Given the description of an element on the screen output the (x, y) to click on. 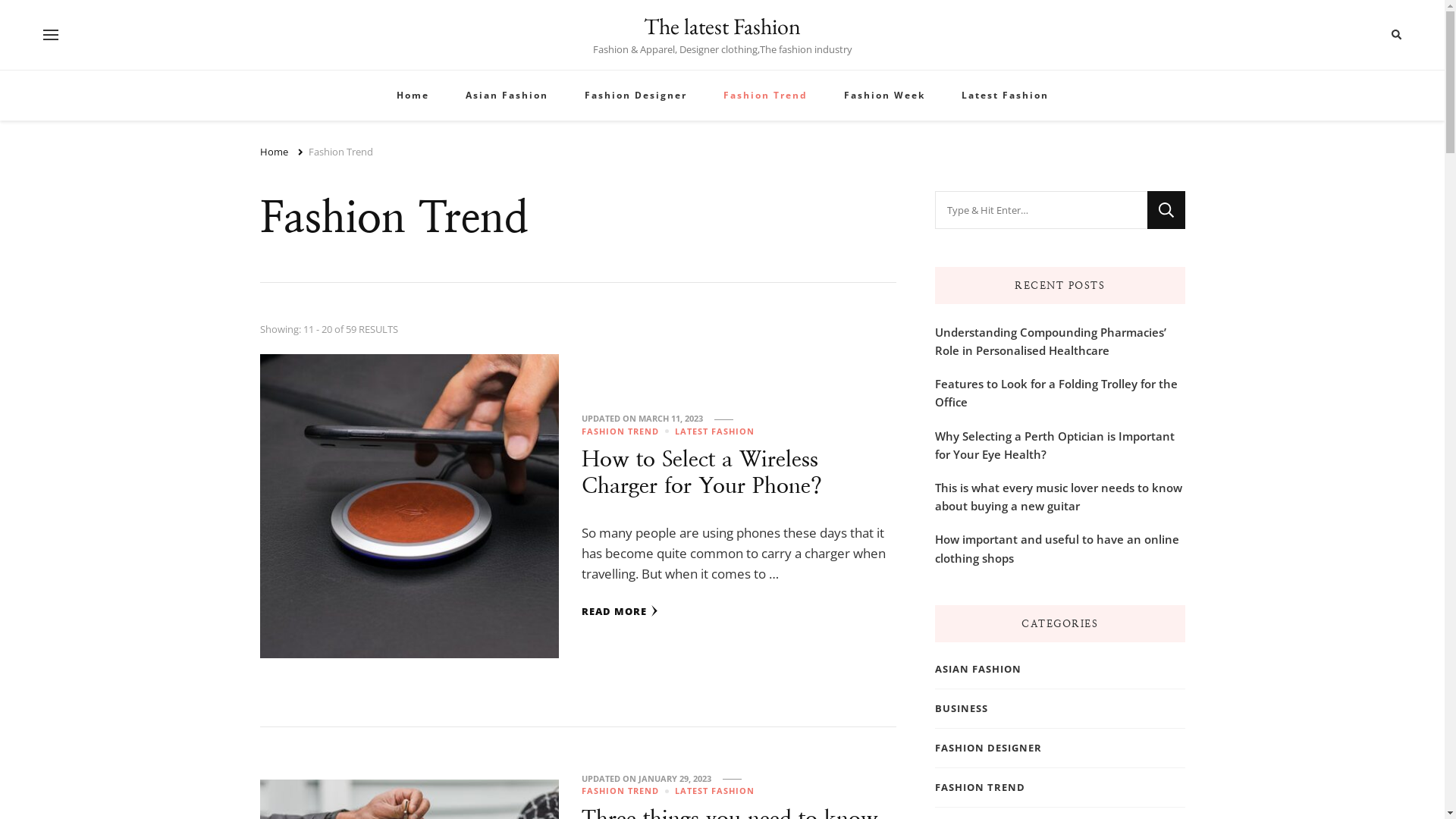
Fashion Designer Element type: text (634, 94)
Fashion Trend Element type: text (339, 152)
FASHION TREND Element type: text (979, 787)
The latest Fashion Element type: text (721, 25)
LATEST FASHION Element type: text (714, 431)
FASHION TREND Element type: text (626, 790)
Home Element type: text (273, 152)
FASHION DESIGNER Element type: text (987, 748)
READ MORE Element type: text (619, 611)
Search Element type: text (1368, 34)
MARCH 11, 2023 Element type: text (670, 418)
JANUARY 29, 2023 Element type: text (674, 777)
How important and useful to have an online clothing shops Element type: text (1059, 548)
ASIAN FASHION Element type: text (977, 669)
Home Element type: text (412, 94)
Latest Fashion Element type: text (1004, 94)
Asian Fashion Element type: text (506, 94)
Features to Look for a Folding Trolley for the Office Element type: text (1059, 392)
LATEST FASHION Element type: text (714, 790)
How to Select a Wireless Charger for Your Phone? Element type: text (701, 472)
Fashion Week Element type: text (883, 94)
FASHION TREND Element type: text (626, 431)
Fashion Trend Element type: text (765, 94)
BUSINESS Element type: text (960, 708)
Search Element type: text (1165, 210)
